Given the description of an element on the screen output the (x, y) to click on. 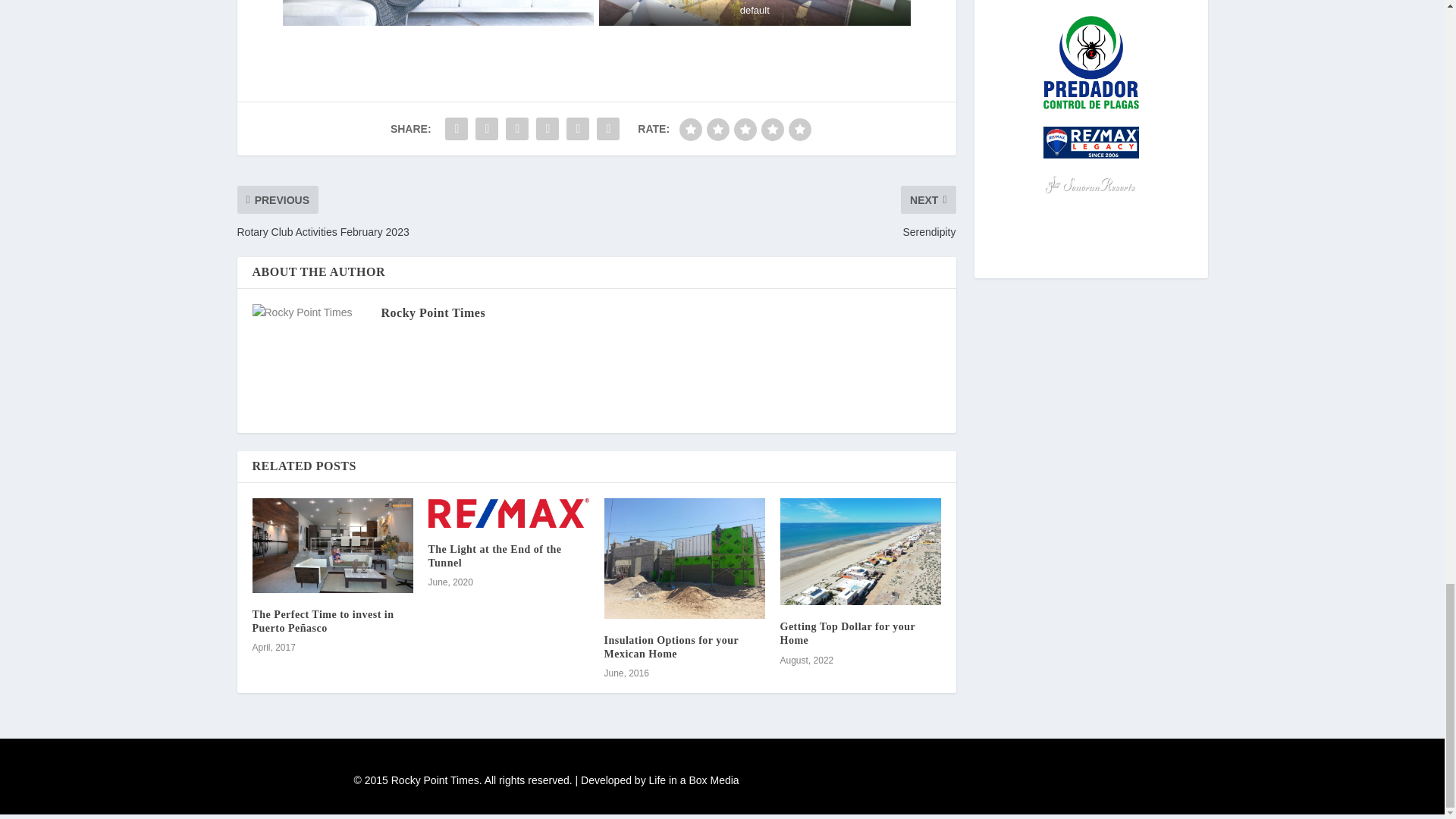
regular (745, 128)
bad (690, 128)
good (772, 128)
View all posts by Rocky Point Times (432, 312)
gorgeous (799, 128)
poor (717, 128)
